Given the description of an element on the screen output the (x, y) to click on. 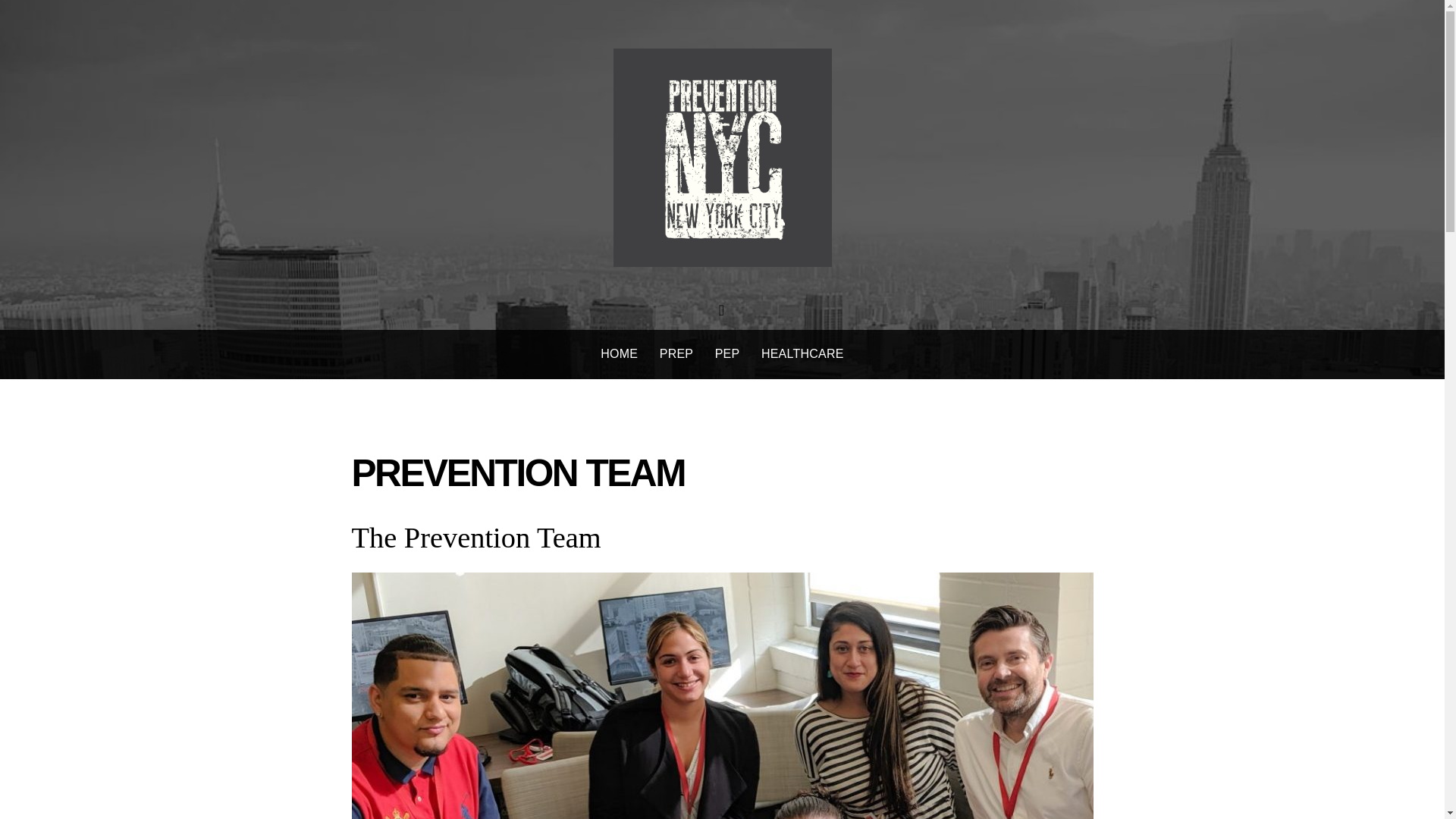
The Prevention Team (476, 537)
HEALTHCARE (802, 354)
PREVENTION NYC (721, 251)
grit (721, 157)
